Given the description of an element on the screen output the (x, y) to click on. 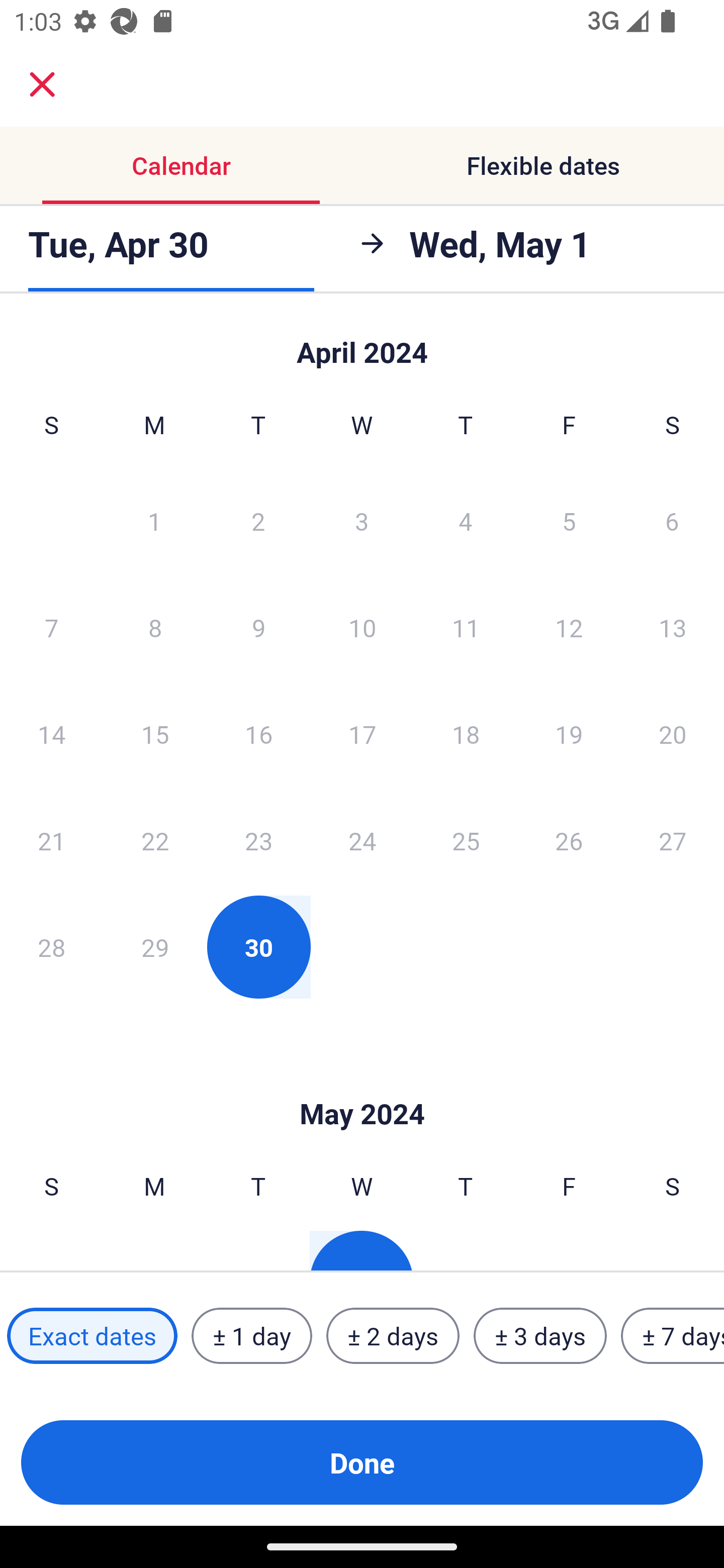
close. (42, 84)
Flexible dates (542, 164)
Skip to Done (362, 343)
1 Monday, April 1, 2024 (154, 520)
2 Tuesday, April 2, 2024 (257, 520)
3 Wednesday, April 3, 2024 (361, 520)
4 Thursday, April 4, 2024 (465, 520)
5 Friday, April 5, 2024 (568, 520)
6 Saturday, April 6, 2024 (672, 520)
7 Sunday, April 7, 2024 (51, 626)
8 Monday, April 8, 2024 (155, 626)
9 Tuesday, April 9, 2024 (258, 626)
10 Wednesday, April 10, 2024 (362, 626)
11 Thursday, April 11, 2024 (465, 626)
12 Friday, April 12, 2024 (569, 626)
13 Saturday, April 13, 2024 (672, 626)
14 Sunday, April 14, 2024 (51, 733)
15 Monday, April 15, 2024 (155, 733)
16 Tuesday, April 16, 2024 (258, 733)
17 Wednesday, April 17, 2024 (362, 733)
18 Thursday, April 18, 2024 (465, 733)
19 Friday, April 19, 2024 (569, 733)
20 Saturday, April 20, 2024 (672, 733)
21 Sunday, April 21, 2024 (51, 840)
22 Monday, April 22, 2024 (155, 840)
23 Tuesday, April 23, 2024 (258, 840)
24 Wednesday, April 24, 2024 (362, 840)
25 Thursday, April 25, 2024 (465, 840)
26 Friday, April 26, 2024 (569, 840)
27 Saturday, April 27, 2024 (672, 840)
28 Sunday, April 28, 2024 (51, 946)
29 Monday, April 29, 2024 (155, 946)
Skip to Done (362, 1083)
Exact dates (92, 1335)
± 1 day (251, 1335)
± 2 days (392, 1335)
± 3 days (539, 1335)
± 7 days (672, 1335)
Done (361, 1462)
